Given the description of an element on the screen output the (x, y) to click on. 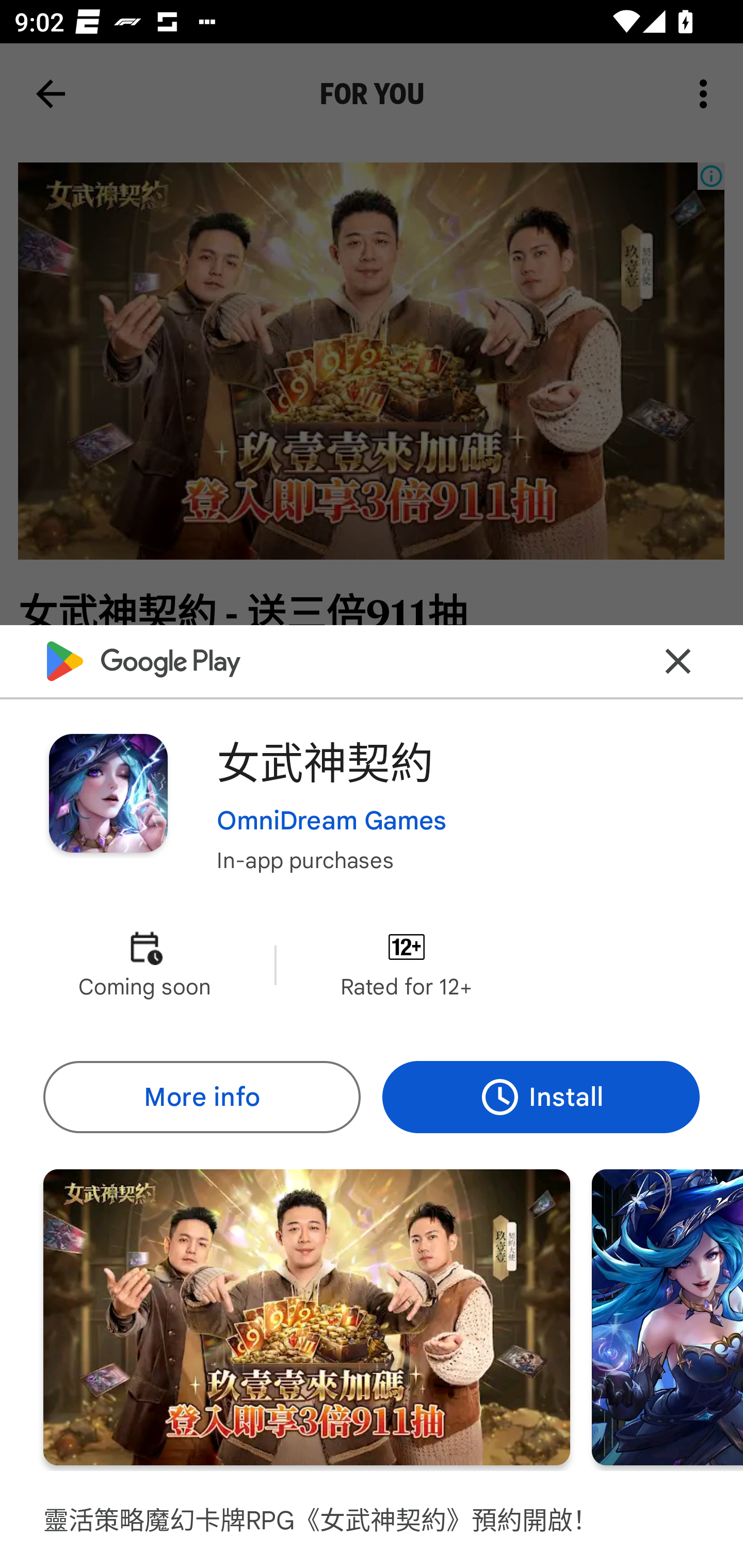
Close (677, 661)
Image of app or game icon for 女武神契約 (108, 792)
OmniDream Games (331, 820)
More info (201, 1097)
Install (540, 1097)
Screenshot "1" of "5" (306, 1317)
